Given the description of an element on the screen output the (x, y) to click on. 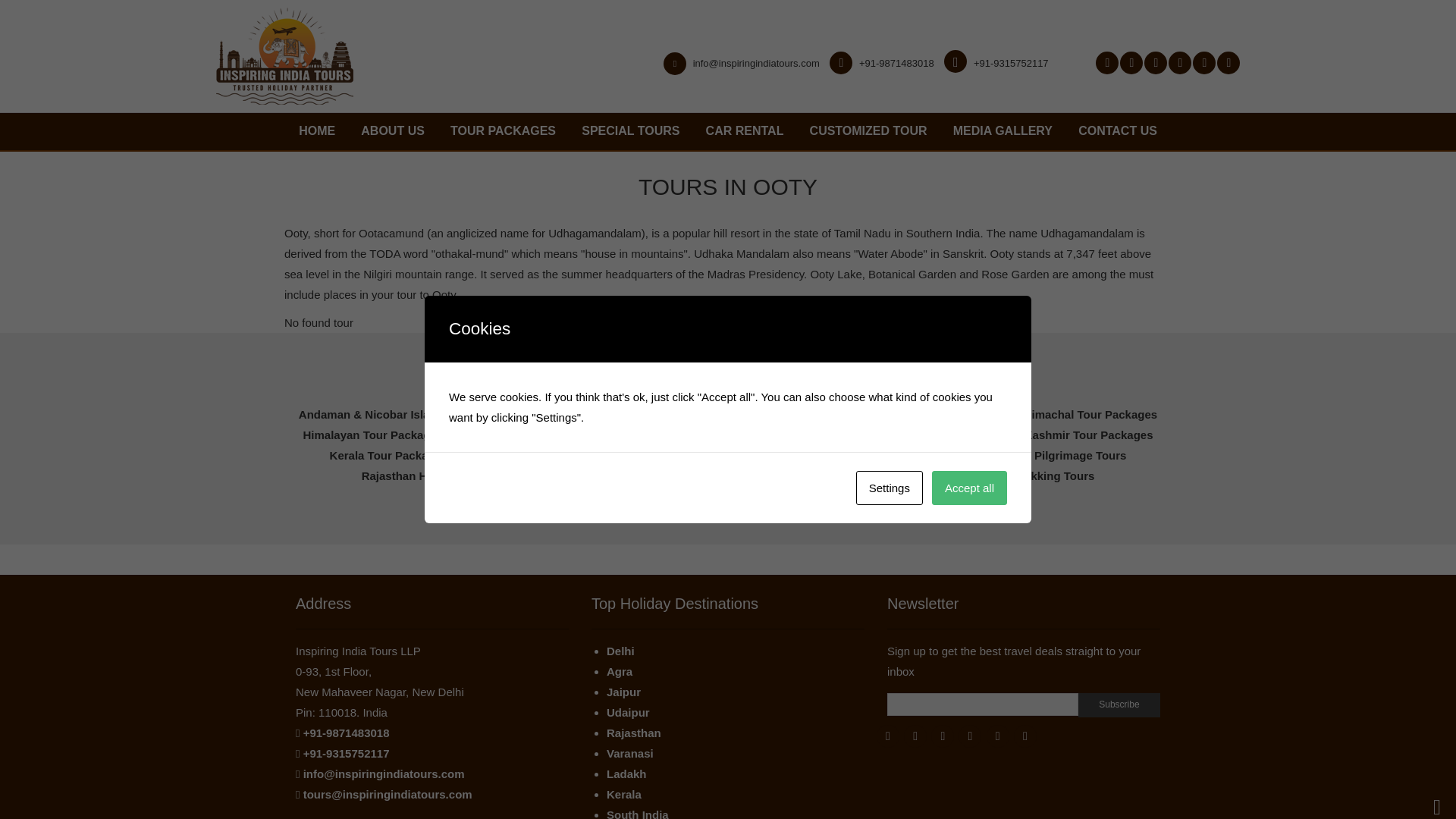
Subscribe (1119, 704)
HOME (317, 131)
TOUR PACKAGES (502, 131)
SPECIAL TOURS (630, 131)
ABOUT US (392, 131)
CAR RENTAL (744, 131)
